Given the description of an element on the screen output the (x, y) to click on. 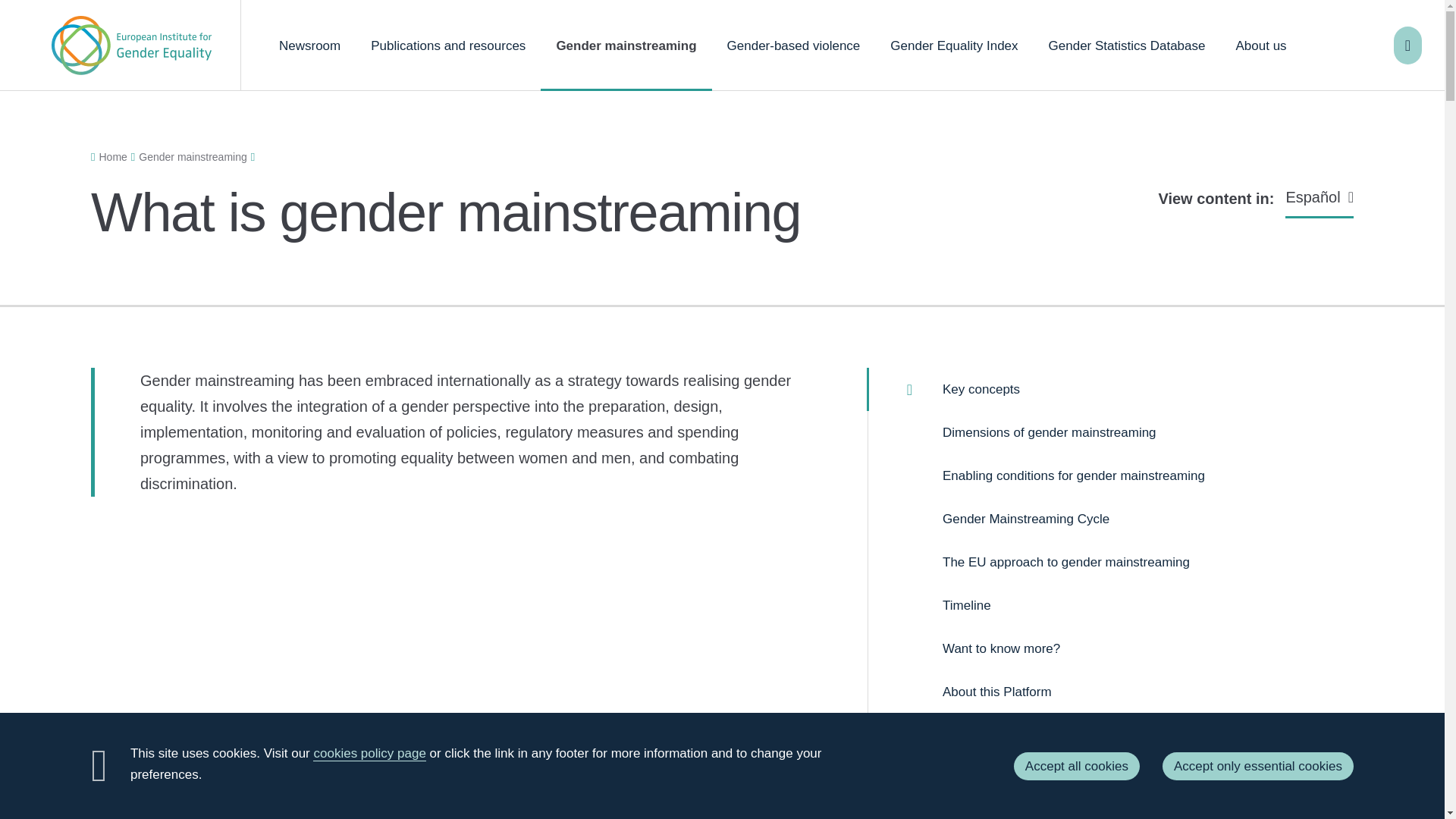
Publications and resources (447, 45)
Newsroom (309, 45)
cookies policy page (369, 753)
Accept only essential cookies (1257, 766)
Gender mainstreaming (625, 45)
European Institute for Gender Equality (130, 45)
Accept all cookies (1076, 766)
